Given the description of an element on the screen output the (x, y) to click on. 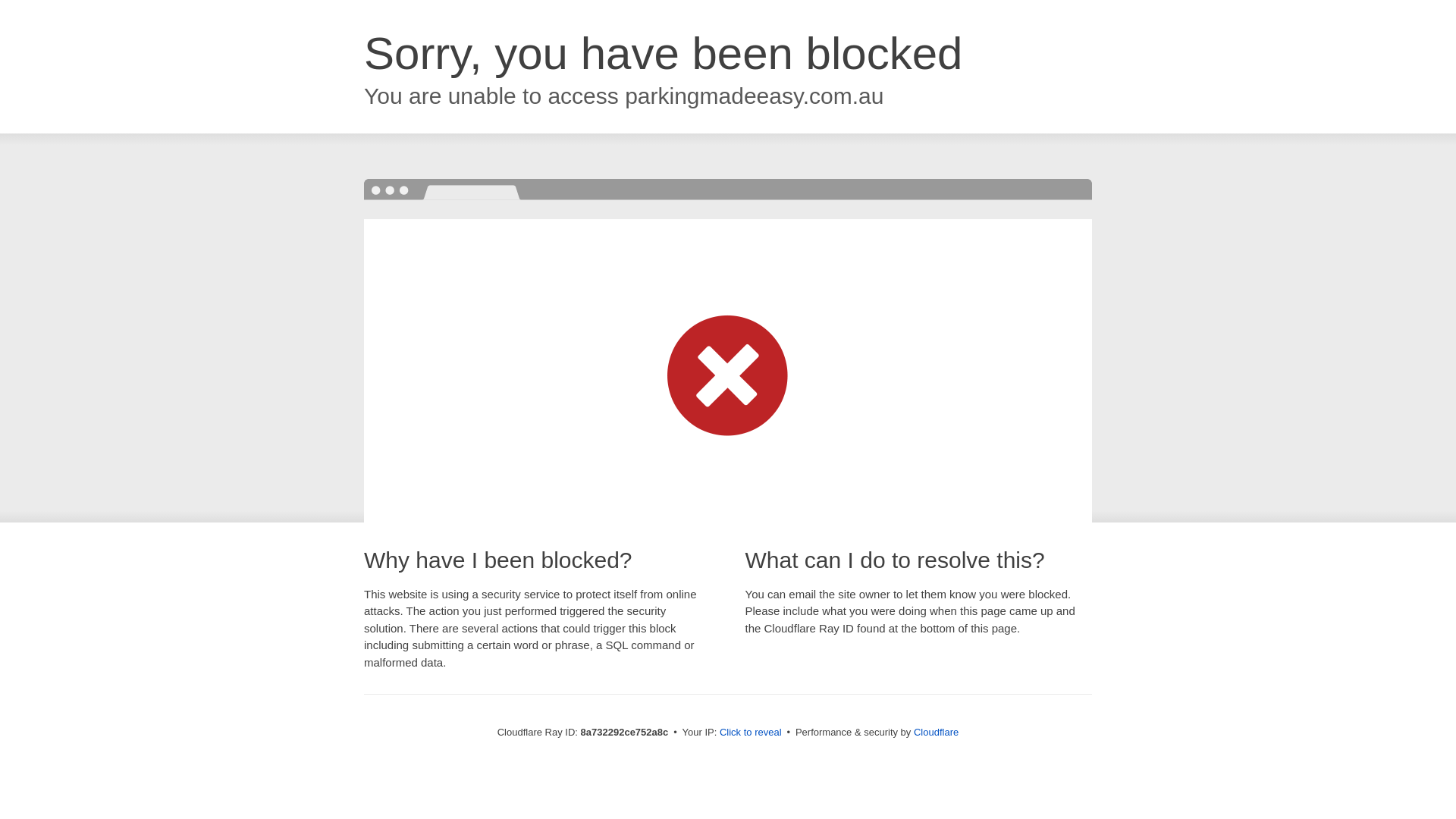
Cloudflare (936, 731)
Click to reveal (750, 732)
